Given the description of an element on the screen output the (x, y) to click on. 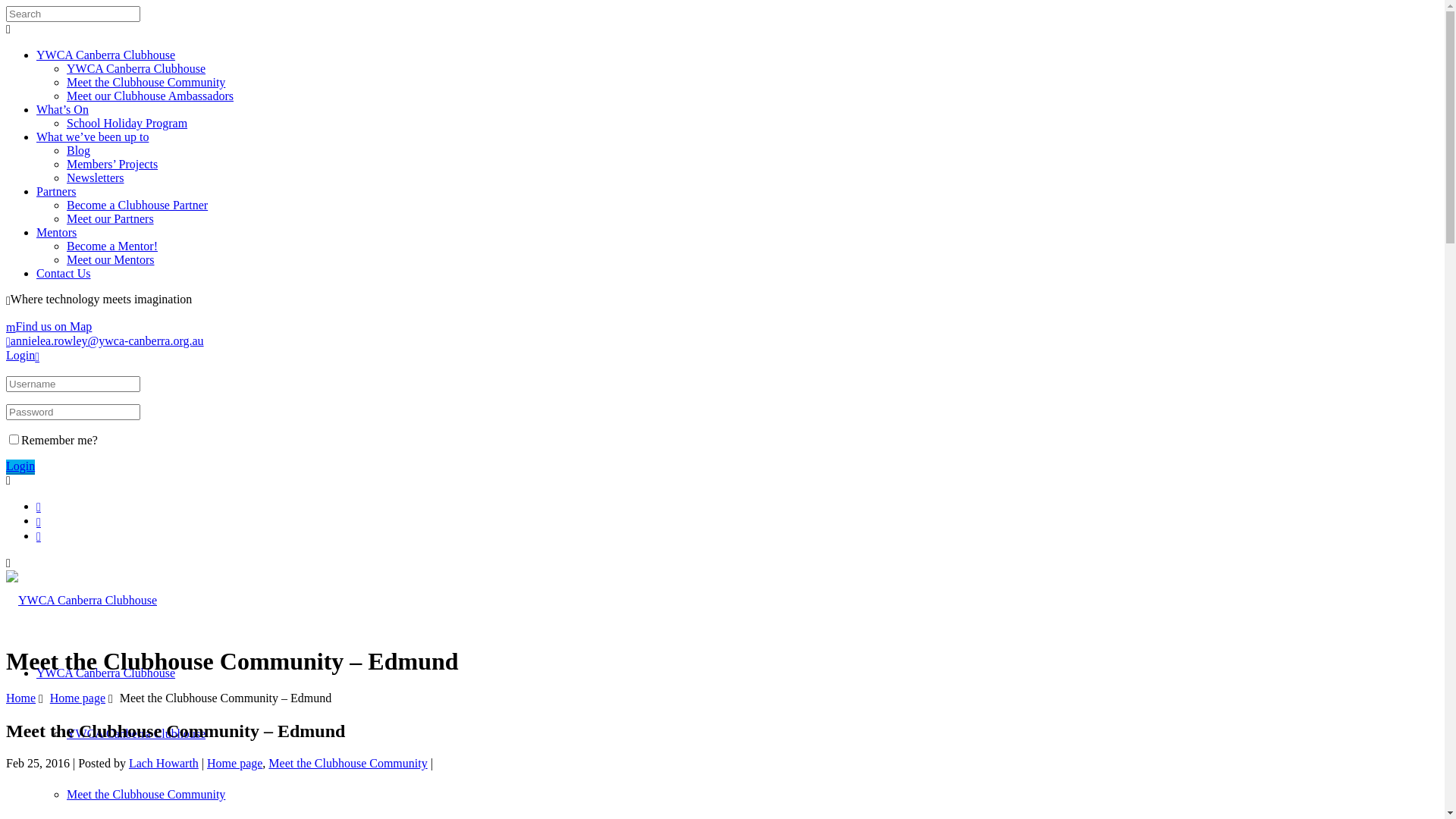
Home page Element type: text (77, 697)
YWCA Canberra Clubhouse Element type: text (105, 672)
Meet the Clubhouse Community Element type: text (347, 762)
Become a Mentor! Element type: text (111, 245)
YWCA Canberra Clubhouse Element type: text (135, 68)
annielea.rowley@ywca-canberra.org.au Element type: text (104, 340)
Login Element type: text (20, 465)
Meet our Mentors Element type: text (110, 259)
Login Element type: text (24, 354)
Partners Element type: text (55, 191)
Meet the Clubhouse Community Element type: text (145, 81)
Meet our Clubhouse Ambassadors Element type: text (149, 95)
Mentors Element type: text (56, 231)
Meet the Clubhouse Community Element type: text (145, 793)
Meet our Partners Element type: text (109, 218)
Blog Element type: text (78, 150)
Newsletters Element type: text (95, 177)
Find us on Map Element type: text (48, 326)
Home page Element type: text (234, 762)
Lach Howarth Element type: text (163, 762)
YWCA Canberra Clubhouse Element type: text (105, 54)
Home Element type: text (20, 697)
School Holiday Program Element type: text (126, 122)
YWCA Canberra Clubhouse Element type: text (135, 733)
Become a Clubhouse Partner Element type: text (136, 204)
Contact Us Element type: text (63, 272)
